Given the description of an element on the screen output the (x, y) to click on. 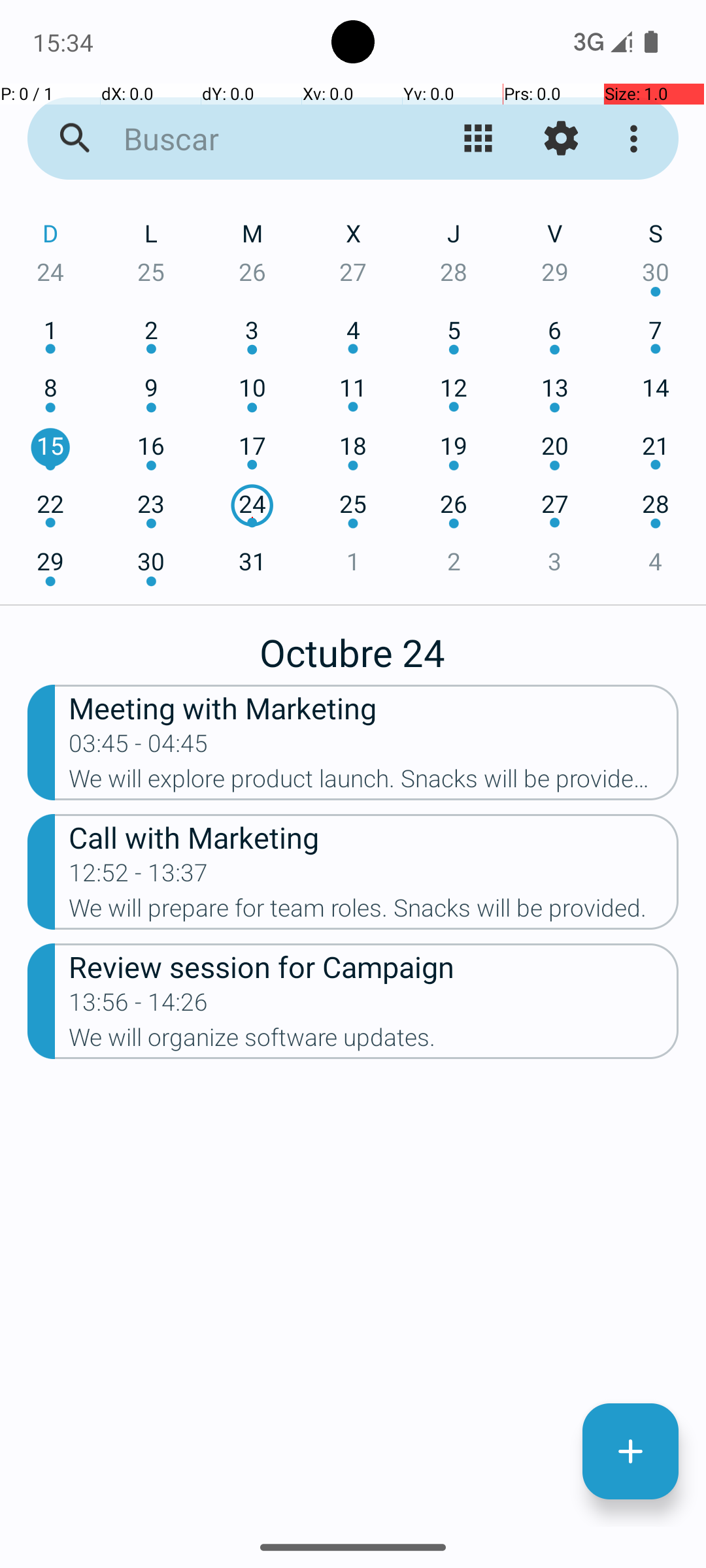
Octubre 24 Element type: android.widget.TextView (352, 644)
Meeting with Marketing Element type: android.widget.TextView (373, 706)
03:45 - 04:45 Element type: android.widget.TextView (137, 747)
We will explore product launch. Snacks will be provided. Element type: android.widget.TextView (373, 782)
Call with Marketing Element type: android.widget.TextView (373, 836)
12:52 - 13:37 Element type: android.widget.TextView (137, 876)
We will prepare for team roles. Snacks will be provided. Element type: android.widget.TextView (373, 911)
13:56 - 14:26 Element type: android.widget.TextView (137, 1005)
We will organize software updates. Element type: android.widget.TextView (373, 1041)
